Given the description of an element on the screen output the (x, y) to click on. 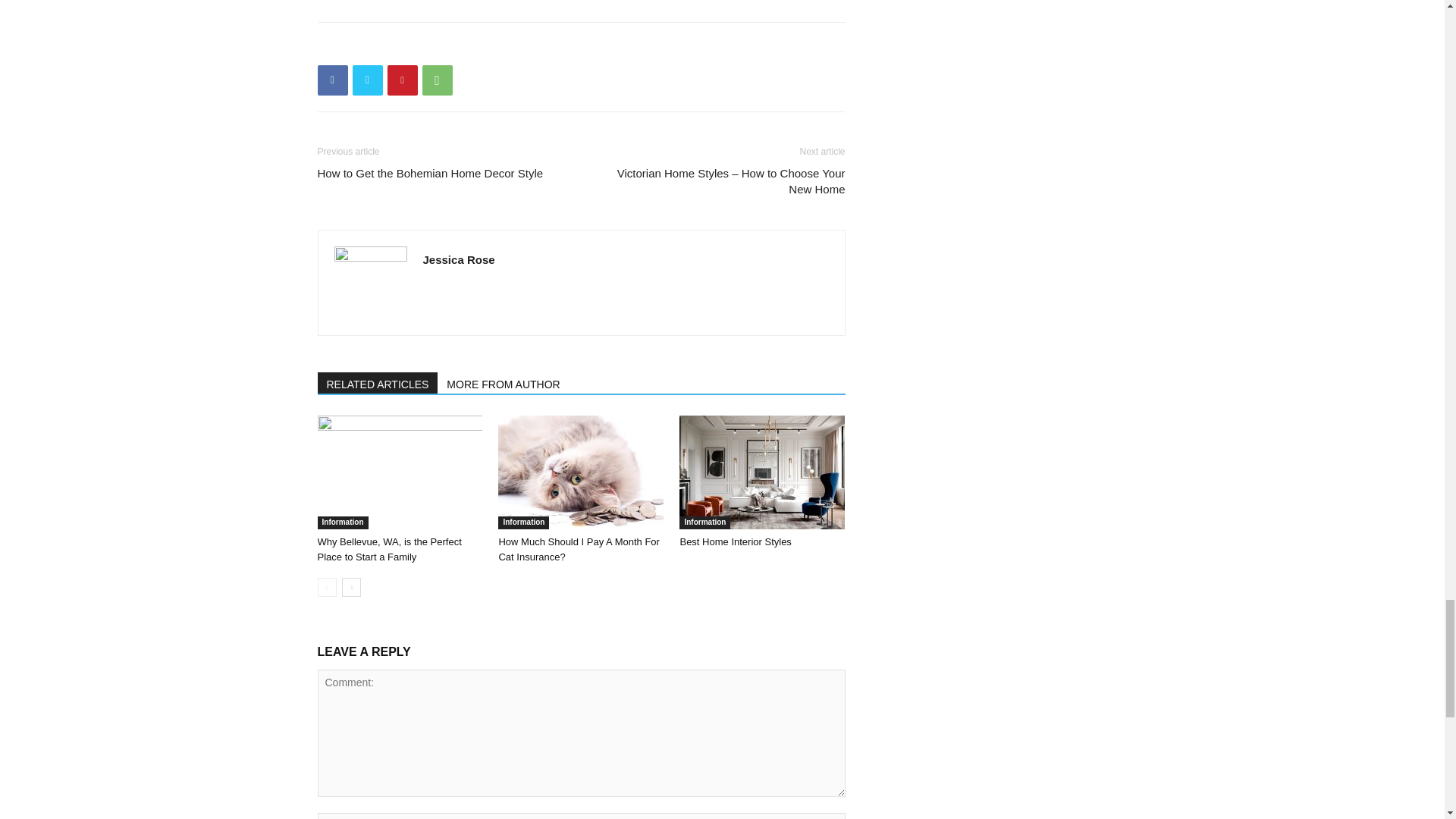
Pinterest (401, 80)
Twitter (366, 80)
Facebook (332, 80)
bottomFacebookLike (430, 46)
